Given the description of an element on the screen output the (x, y) to click on. 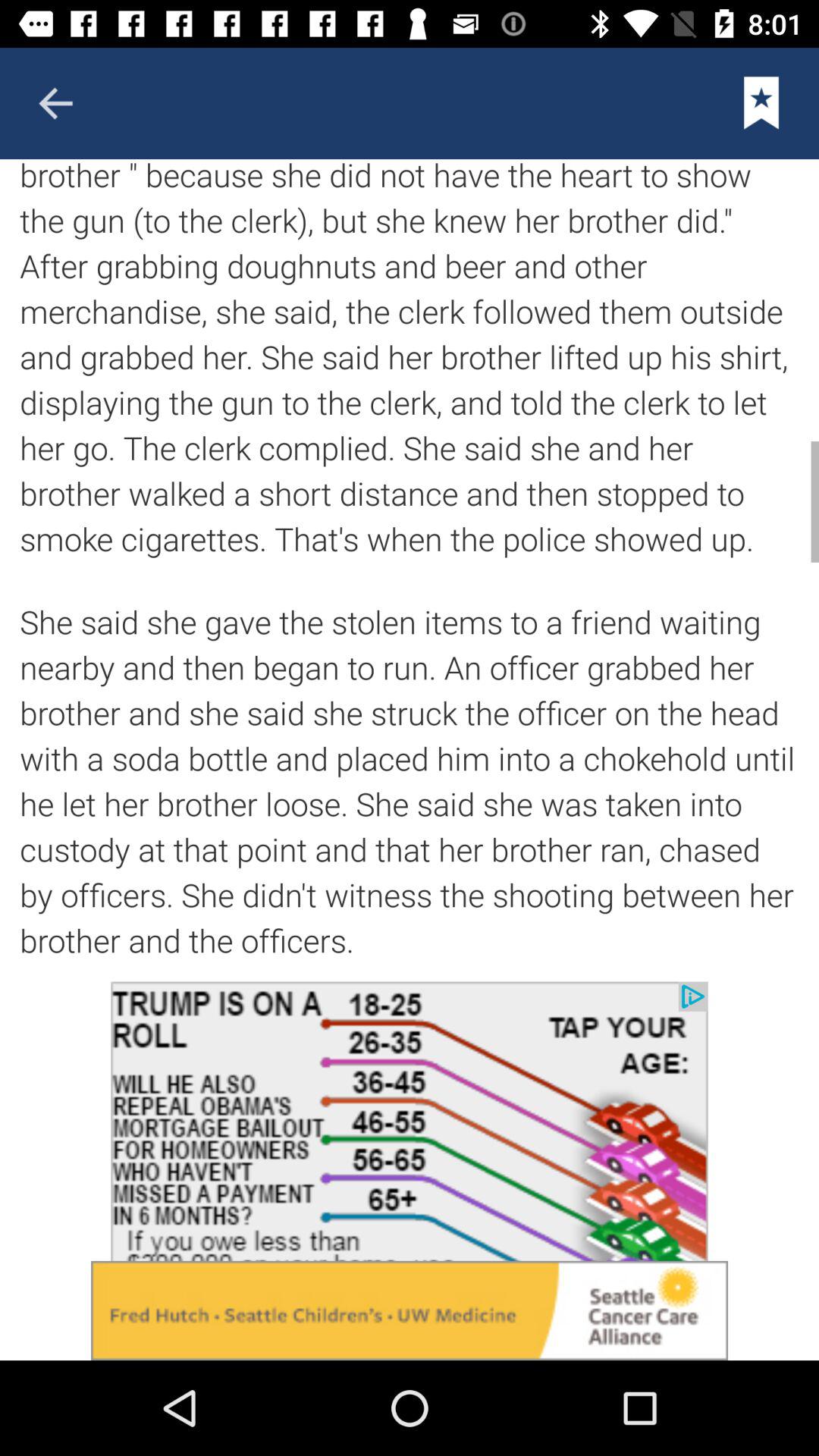
go to previous (55, 103)
